Given the description of an element on the screen output the (x, y) to click on. 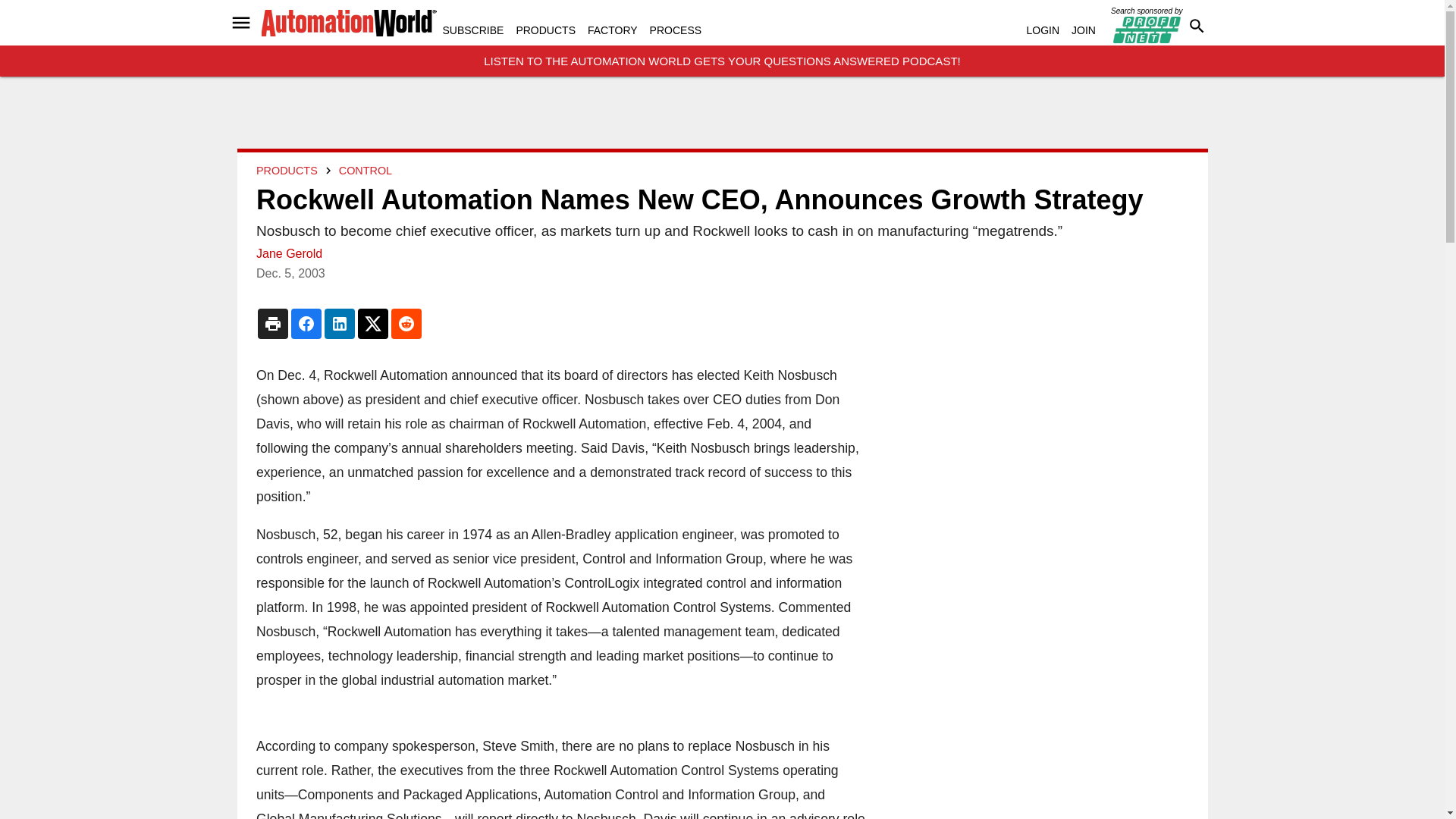
PRODUCTS (286, 170)
SUBSCRIBE (472, 30)
FACTORY (612, 30)
JOIN (1083, 30)
PROCESS (675, 30)
Jane Gerold (288, 253)
PRODUCTS (545, 30)
CONTROL (364, 170)
LOGIN (1042, 30)
